Given the description of an element on the screen output the (x, y) to click on. 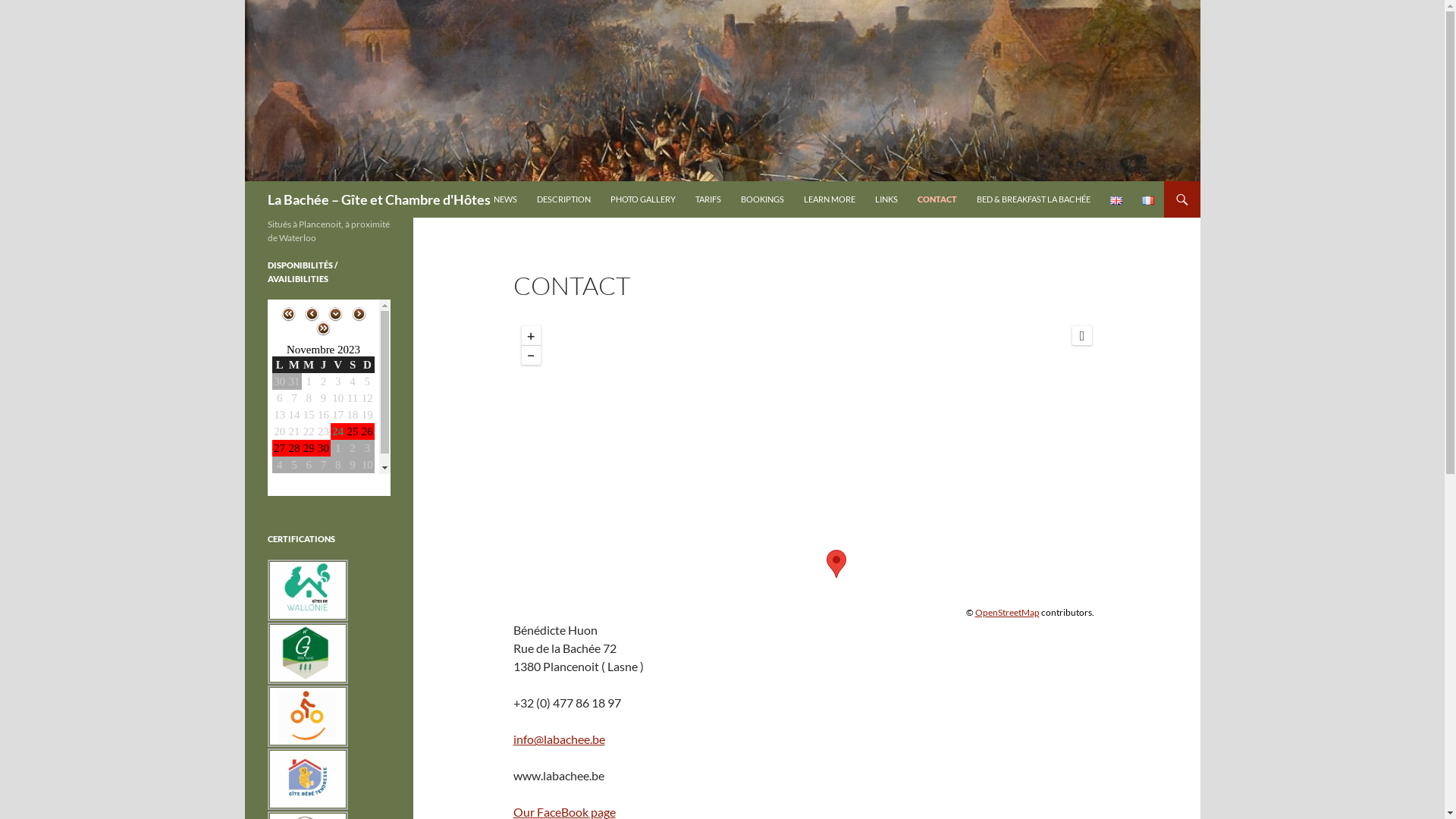
SKIP TO CONTENT Element type: text (492, 180)
LEARN MORE Element type: text (829, 199)
NEWS Element type: text (504, 199)
CONTACT Element type: text (937, 199)
DESCRIPTION Element type: text (563, 199)
BOOKINGS Element type: text (761, 199)
info@labachee.be Element type: text (558, 738)
LINKS Element type: text (886, 199)
Search Element type: text (29, 9)
+ Element type: text (530, 335)
PHOTO GALLERY Element type: text (642, 199)
Search Element type: text (247, 180)
OpenStreetMap Element type: text (1007, 612)
TARIFS Element type: text (707, 199)
